Given the description of an element on the screen output the (x, y) to click on. 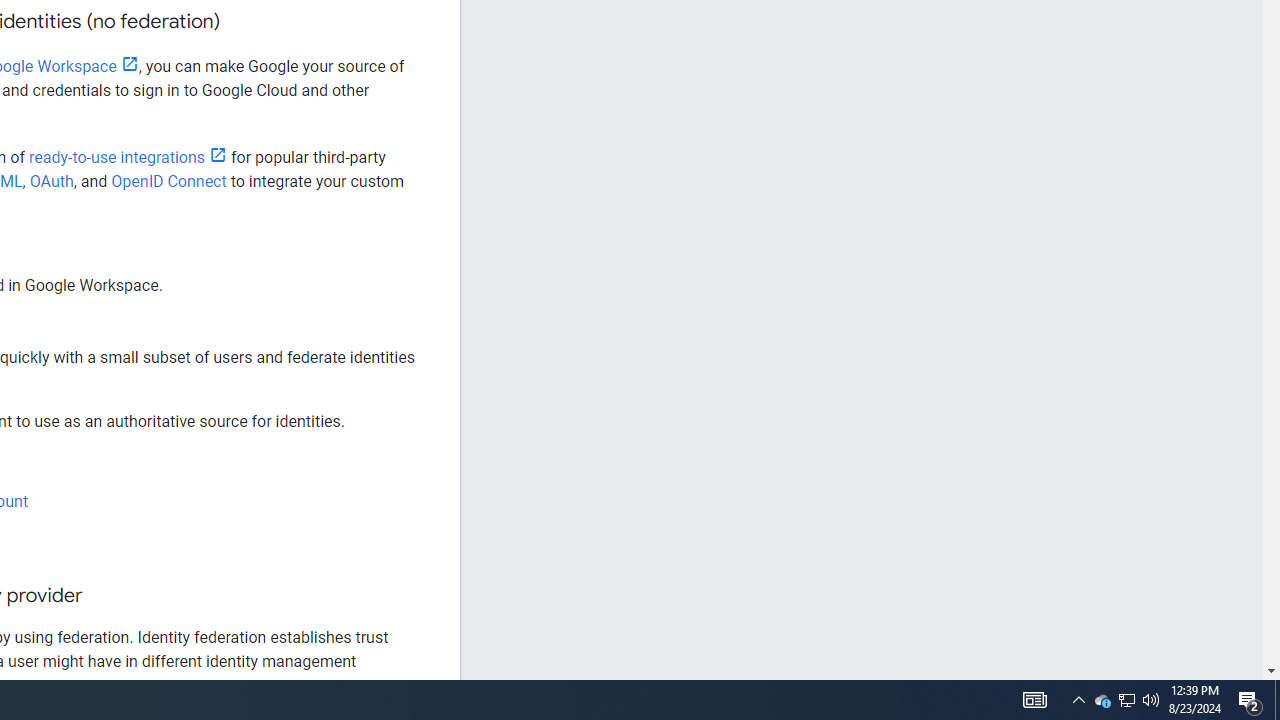
OAuth (51, 181)
ready-to-use integrations (127, 157)
OpenID Connect (168, 181)
